Given the description of an element on the screen output the (x, y) to click on. 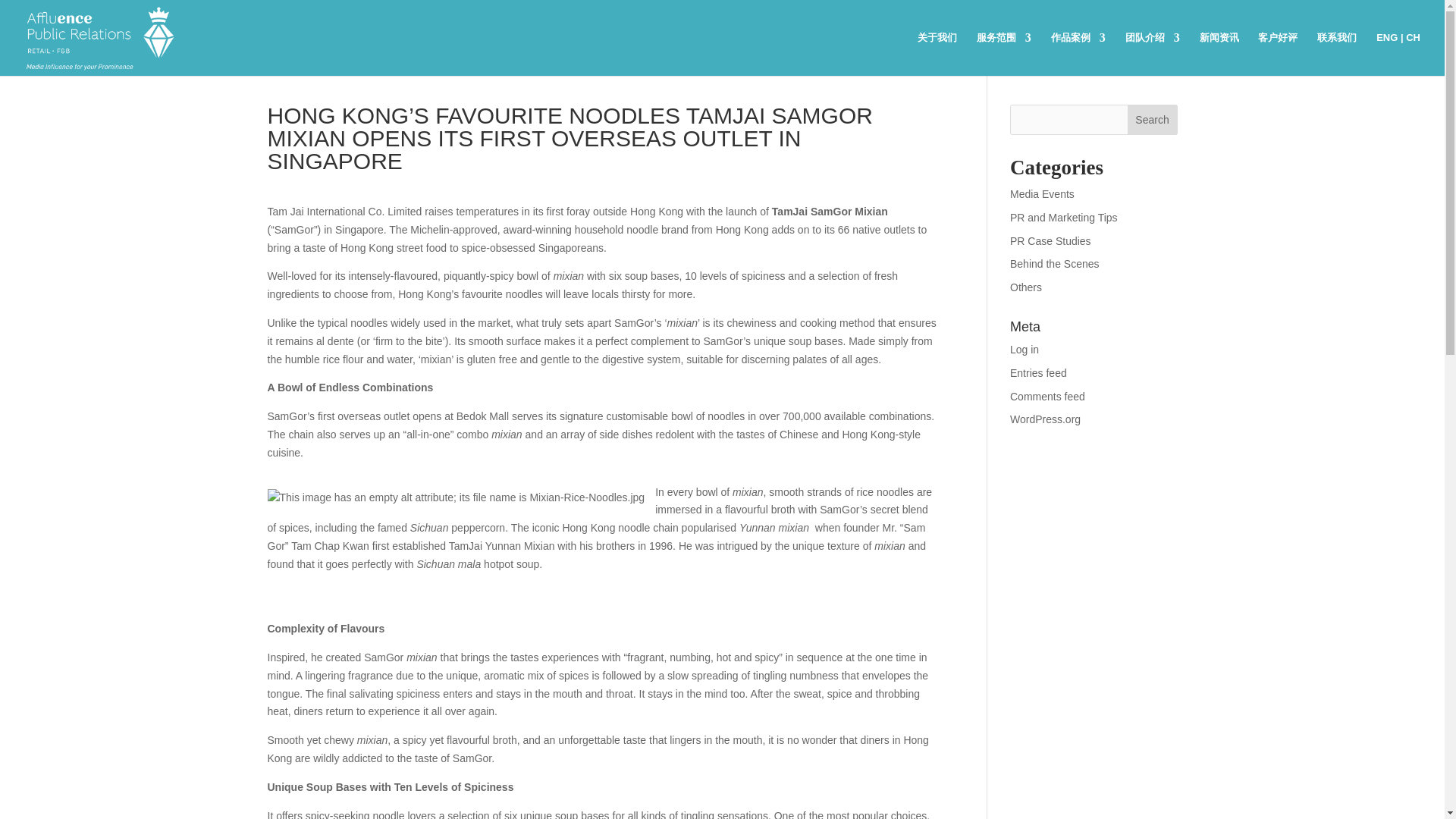
Entries feed (1038, 372)
Search (1151, 119)
Log in (1024, 349)
PR Case Studies (1050, 241)
WordPress.org (1045, 419)
Media Events (1042, 193)
Behind the Scenes (1054, 263)
Others (1026, 287)
Comments feed (1047, 396)
PR and Marketing Tips (1064, 217)
